Given the description of an element on the screen output the (x, y) to click on. 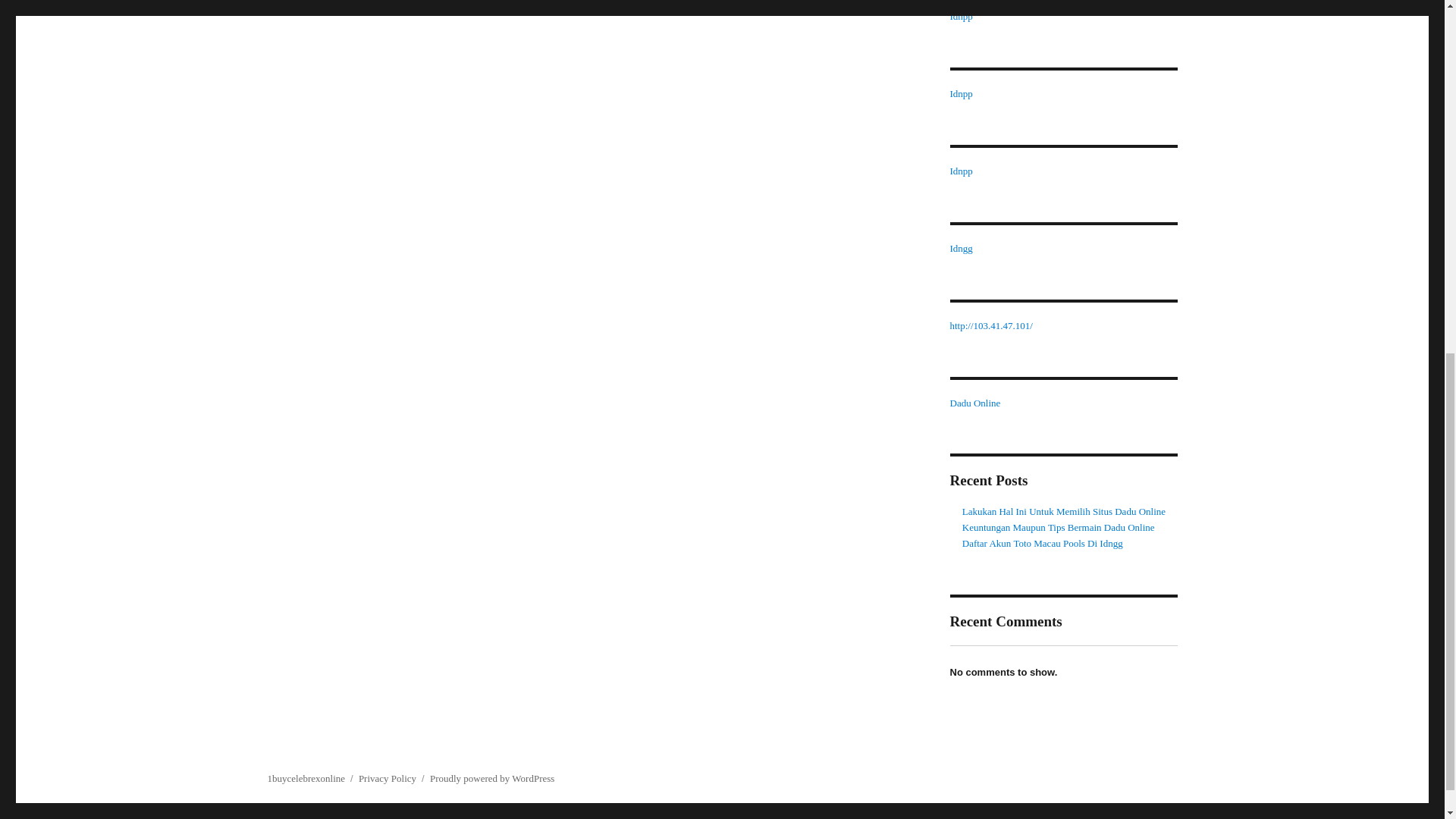
Dadu Online (974, 402)
Daftar Akun Toto Macau Pools Di Idngg (1042, 542)
Privacy Policy (387, 778)
Lakukan Hal Ini Untuk Memilih Situs Dadu Online (1064, 511)
Proudly powered by WordPress (491, 778)
1buycelebrexonline (305, 778)
Idnpp (960, 170)
Idnpp (960, 93)
Idngg (960, 247)
Keuntungan Maupun Tips Bermain Dadu Online (1058, 527)
Idnpp (960, 16)
